Given the description of an element on the screen output the (x, y) to click on. 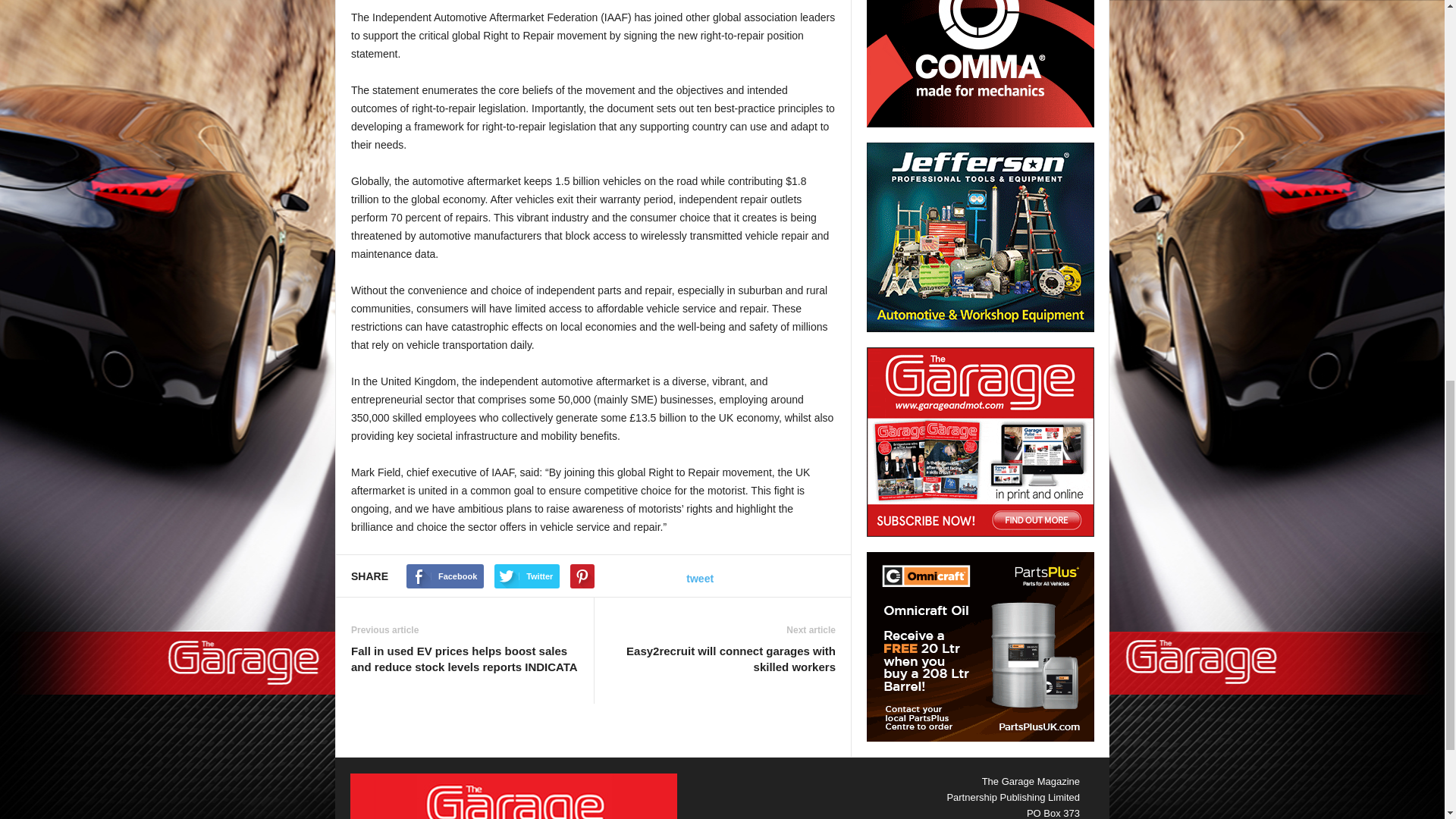
Twitter (527, 576)
Facebook (444, 576)
